Given the description of an element on the screen output the (x, y) to click on. 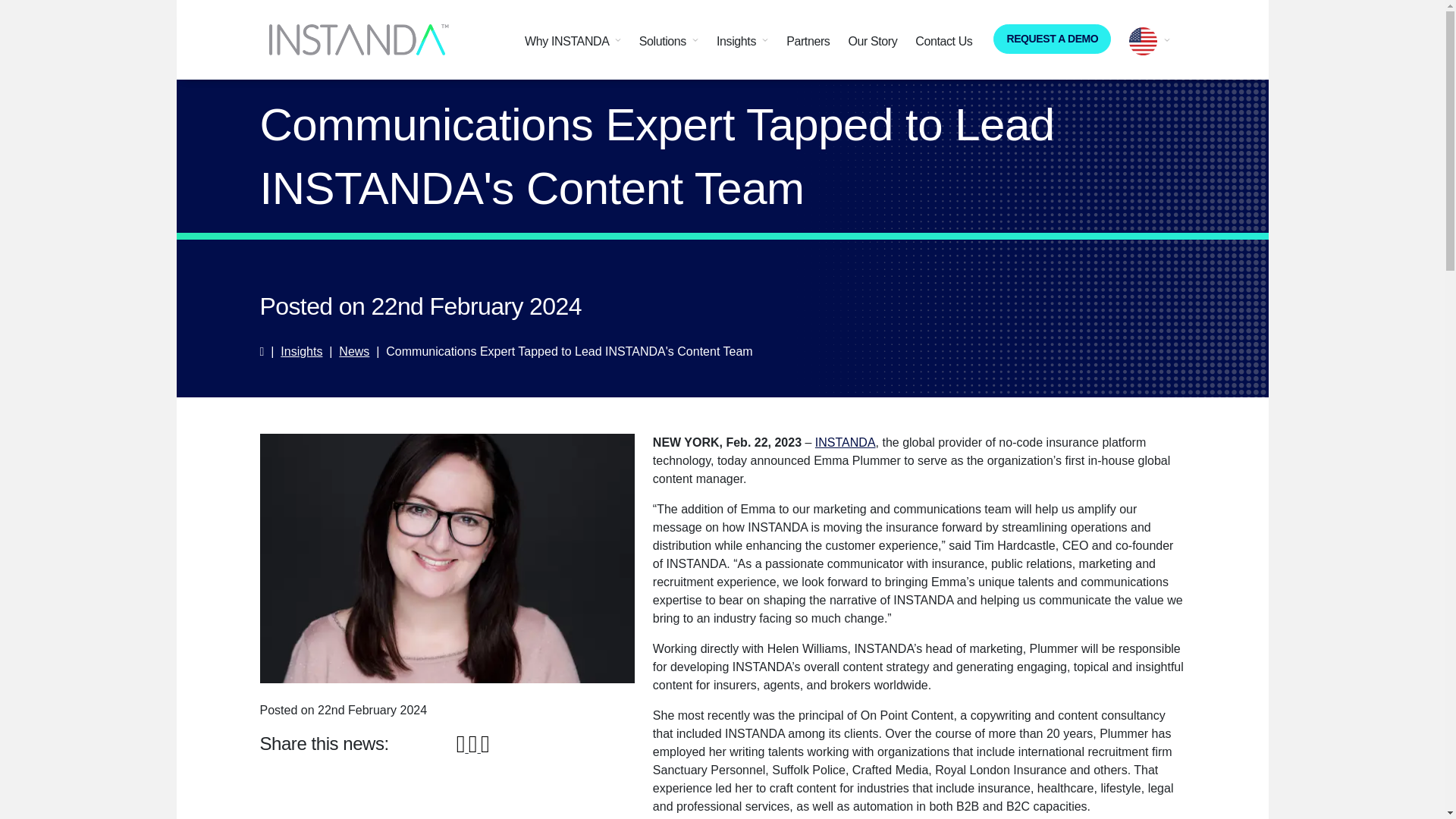
Insights (301, 350)
Contact Us (943, 40)
Facebook (462, 748)
Insights (742, 40)
Our Story (871, 40)
INSTANDA (845, 441)
News (354, 350)
REQUEST A DEMO (1051, 39)
Partners (807, 40)
Home (261, 350)
Solutions (668, 40)
Why INSTANDA (572, 40)
Twitter (474, 748)
LinkedIn (484, 748)
